Given the description of an element on the screen output the (x, y) to click on. 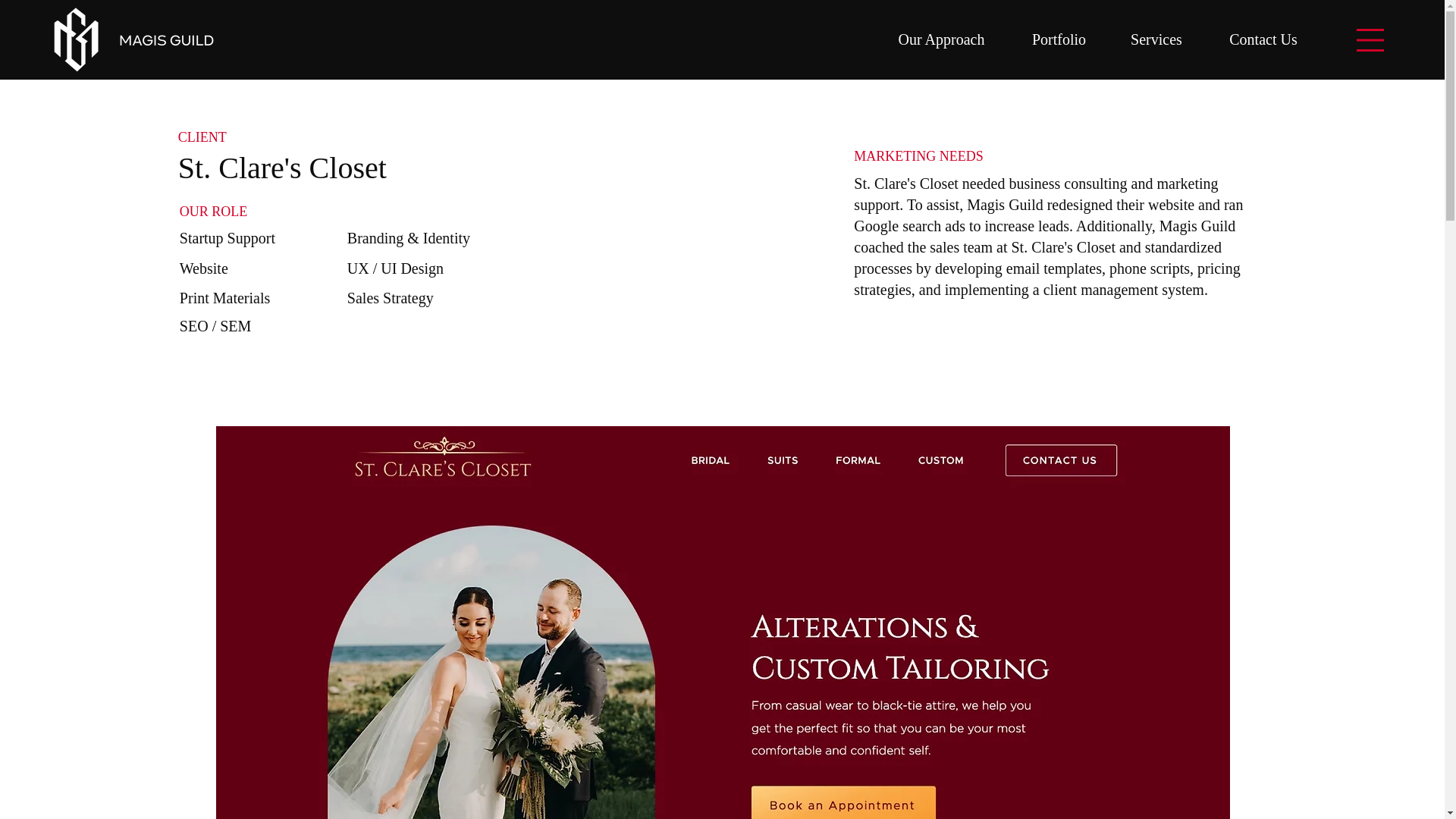
Services (1156, 39)
Contact Us (1263, 39)
Our Approach (941, 39)
Portfolio (1059, 39)
